Given the description of an element on the screen output the (x, y) to click on. 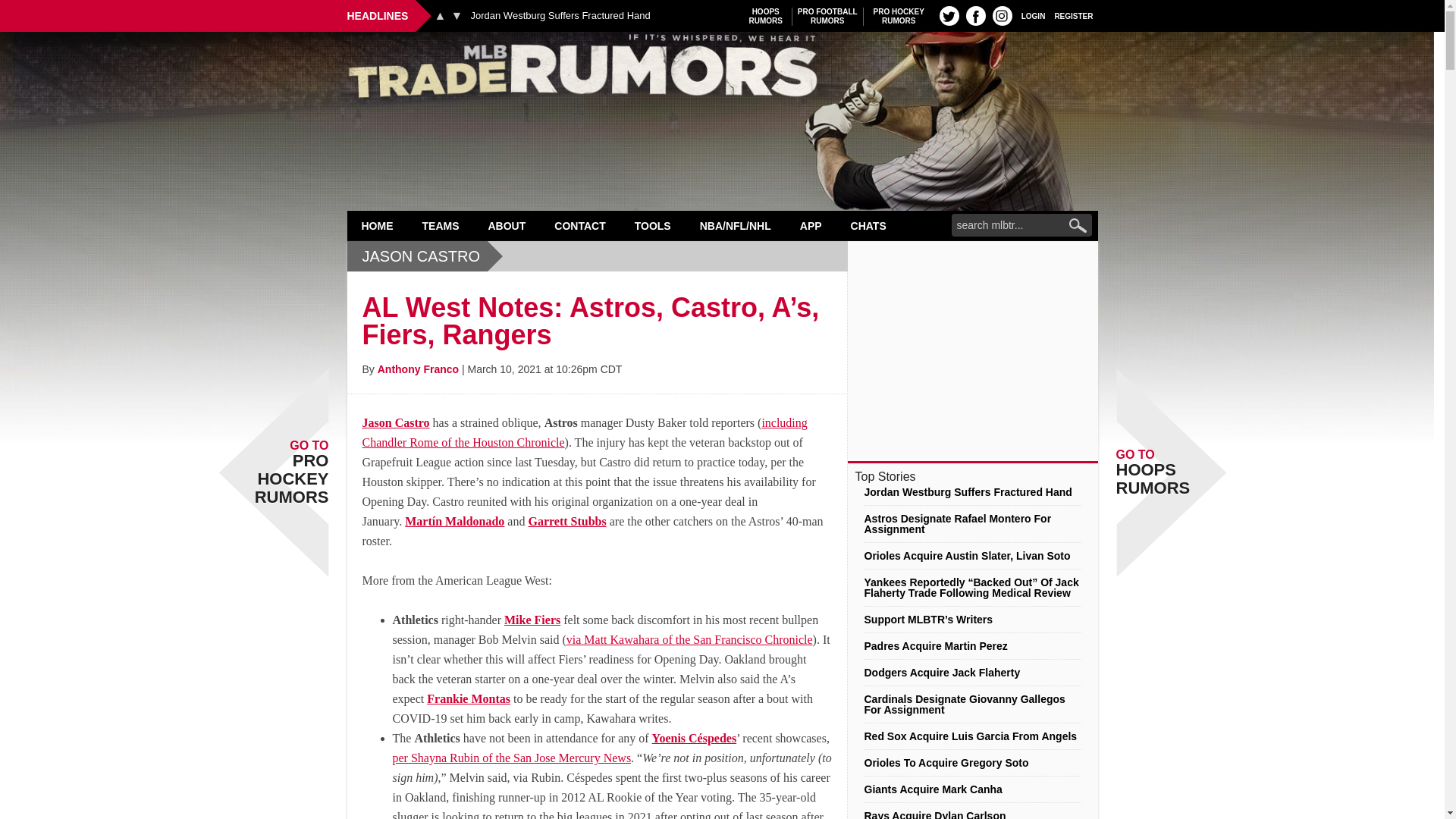
HOME (377, 225)
MLB Trade Rumors (722, 69)
Instagram profile (827, 16)
Search (1001, 15)
LOGIN (975, 15)
Twitter profile (1032, 15)
Previous (949, 15)
Next (898, 16)
Jordan Westburg Suffers Fractured Hand (439, 15)
REGISTER (456, 15)
TEAMS (559, 15)
